Given the description of an element on the screen output the (x, y) to click on. 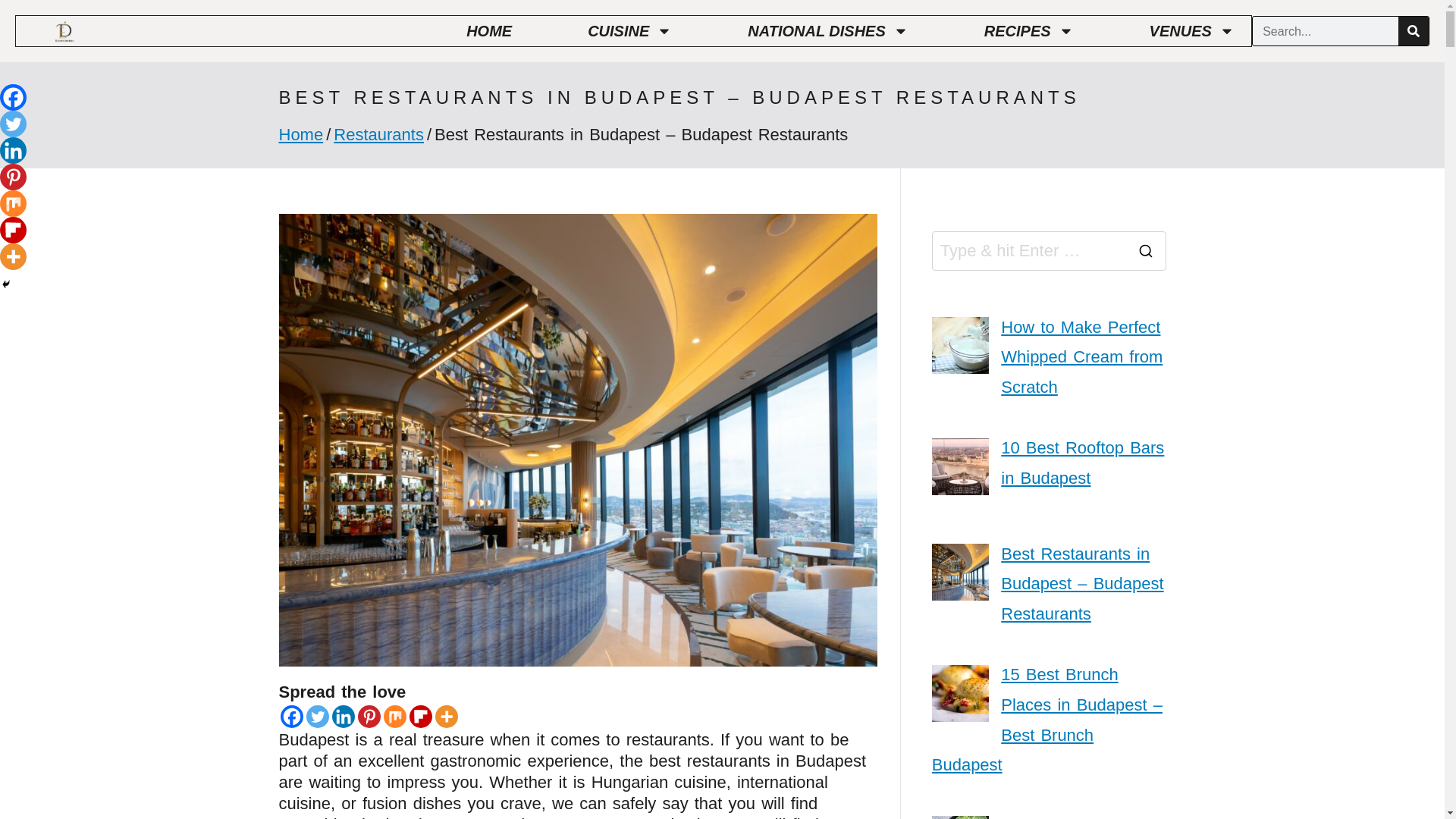
Facebook (13, 97)
Twitter (13, 123)
Linkedin (13, 150)
Mix (395, 716)
Facebook (291, 716)
RECIPES (1029, 30)
Mix (13, 203)
Twitter (317, 716)
CUISINE (629, 30)
More (13, 256)
Linkedin (343, 716)
NATIONAL DISHES (828, 30)
HOME (488, 30)
Pinterest (13, 176)
Pinterest (369, 716)
